Given the description of an element on the screen output the (x, y) to click on. 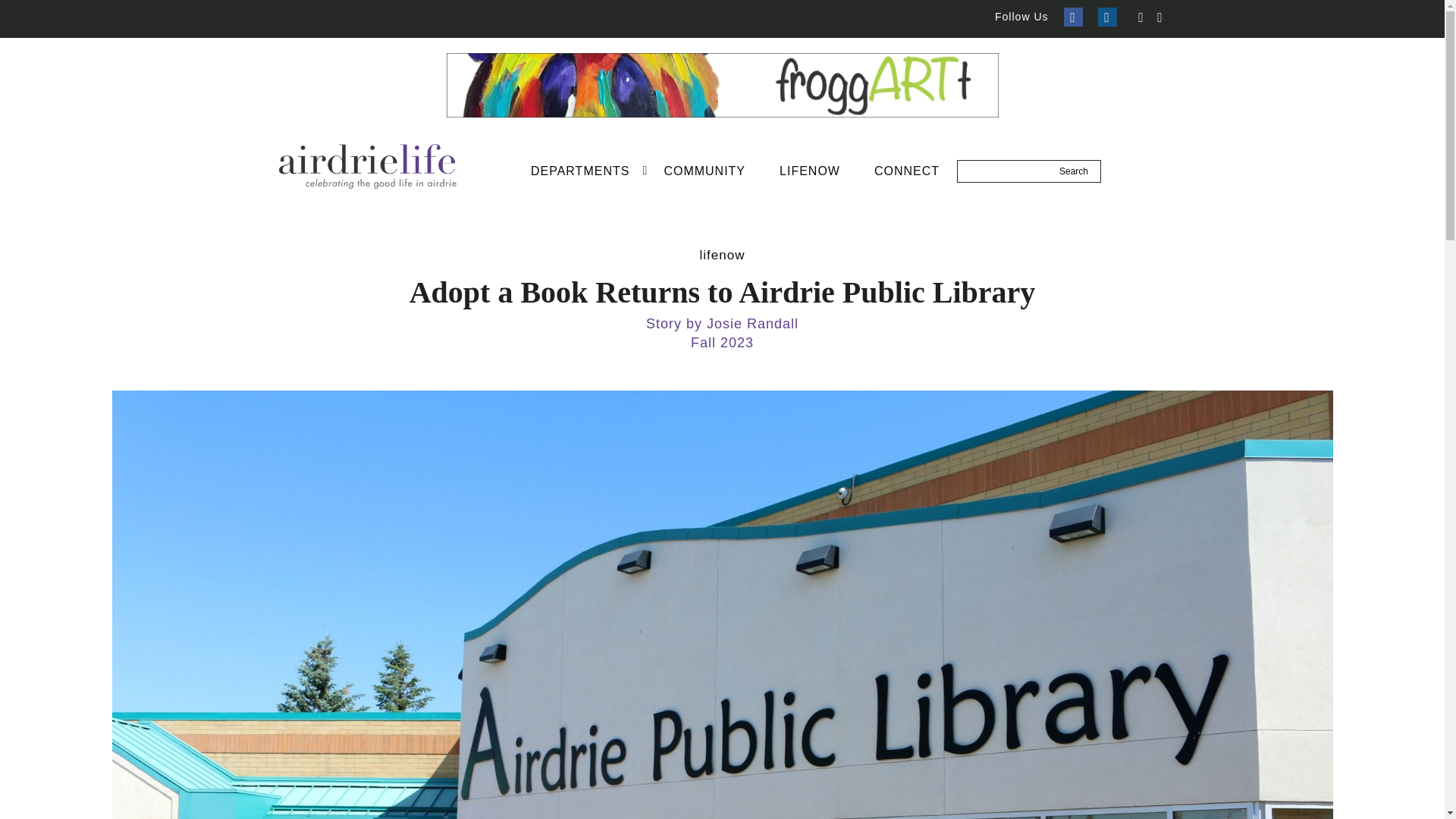
airdrielife magazine's Facebook (1071, 16)
airdrielife magazine's Instagram Account (1106, 16)
airdrielife magazine's youtube Account (1160, 16)
airdrielife magazine's Linkedin Account (1140, 16)
COMMUNITY (704, 171)
Search (1074, 170)
CONNECT (906, 171)
LIFENOW (809, 171)
Search (1074, 170)
Search (1074, 170)
DEPARTMENTS (579, 171)
